Given the description of an element on the screen output the (x, y) to click on. 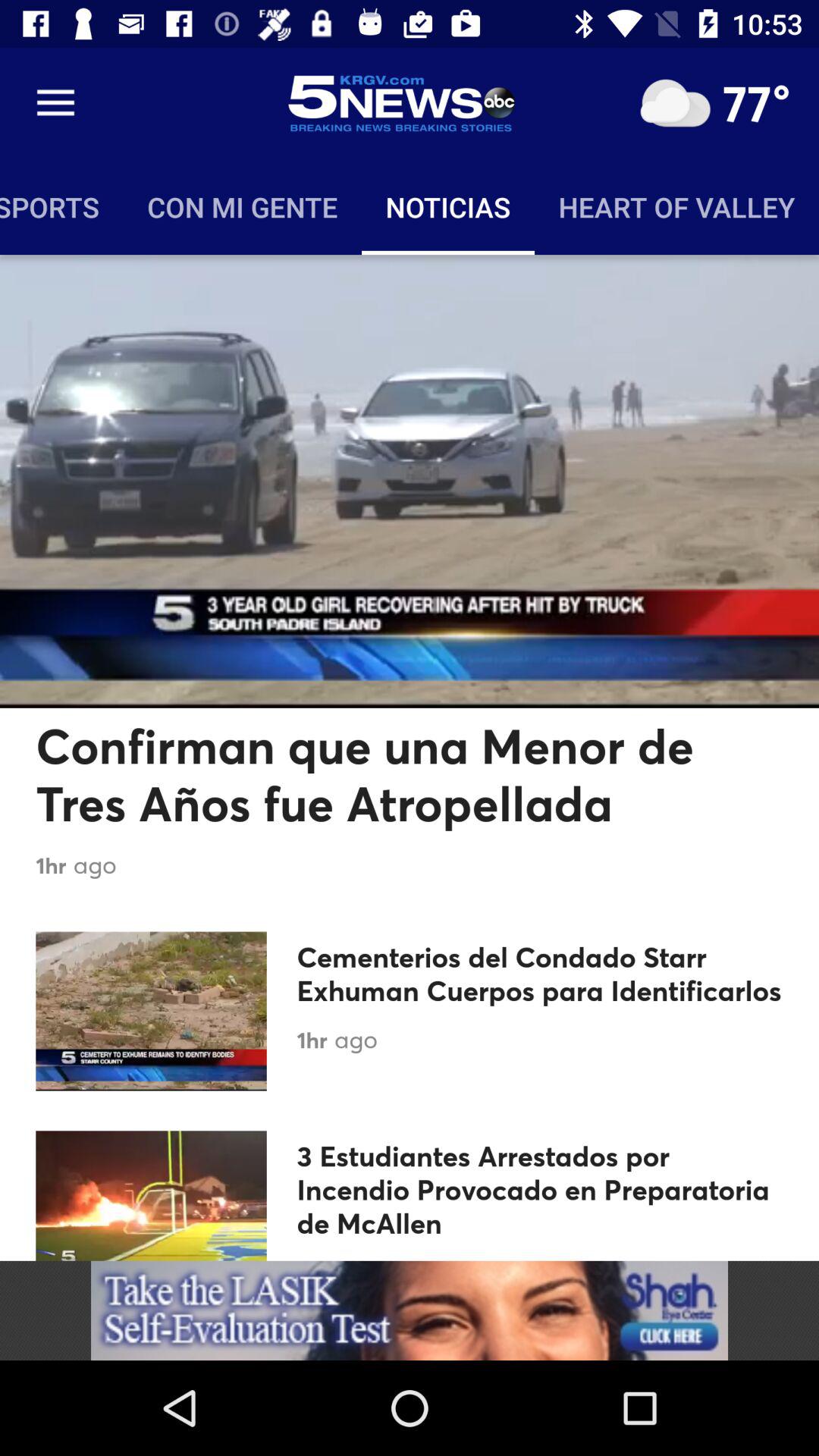
open the weather page (674, 103)
